Given the description of an element on the screen output the (x, y) to click on. 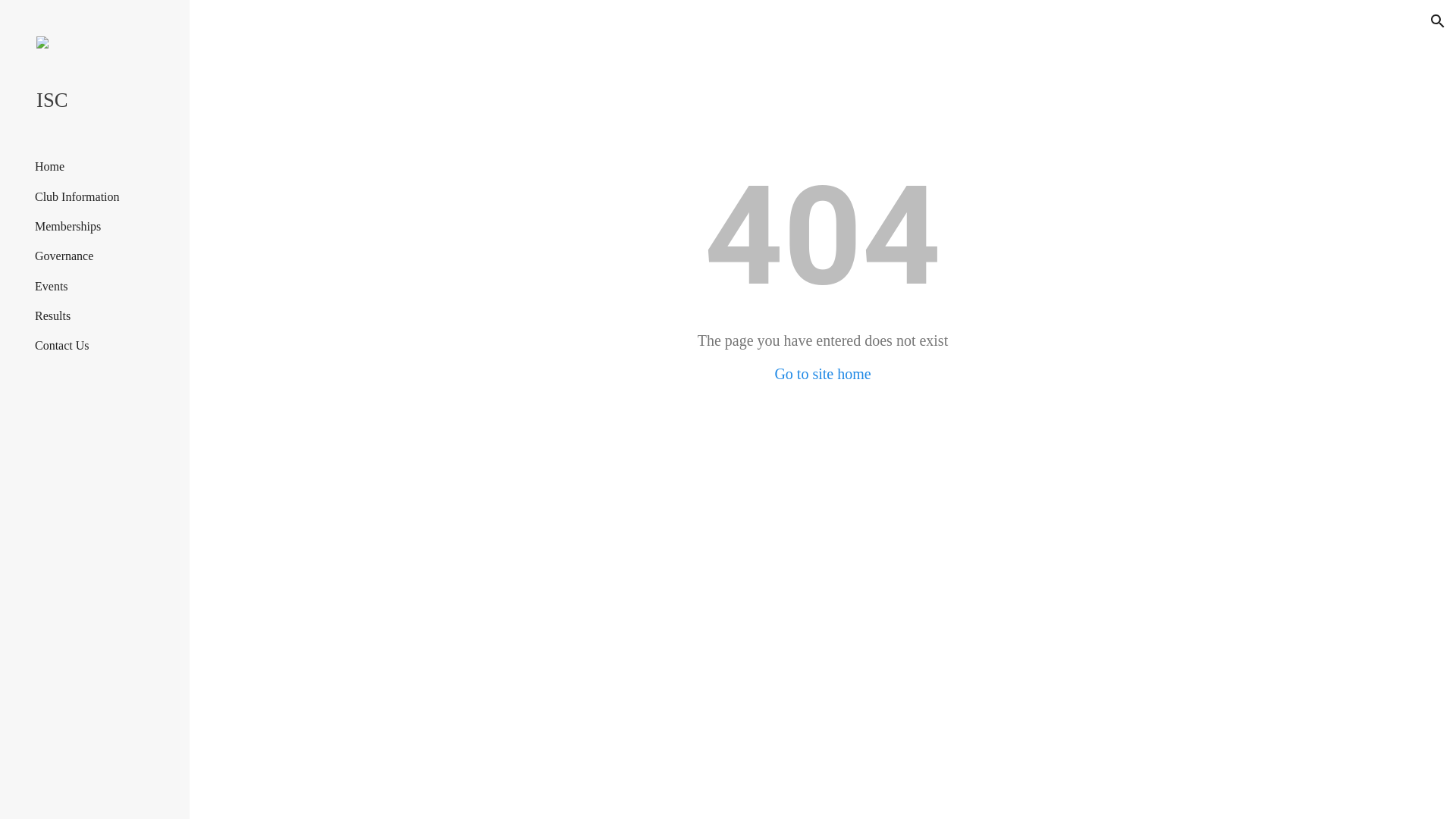
Home Element type: text (49, 166)
Club Information Element type: text (77, 196)
Memberships Element type: text (67, 226)
Governance Element type: text (63, 256)
Contact Us Element type: text (62, 345)
Results Element type: text (52, 316)
Go to site home Element type: text (822, 373)
ISC Element type: text (100, 99)
Events Element type: text (51, 286)
